Given the description of an element on the screen output the (x, y) to click on. 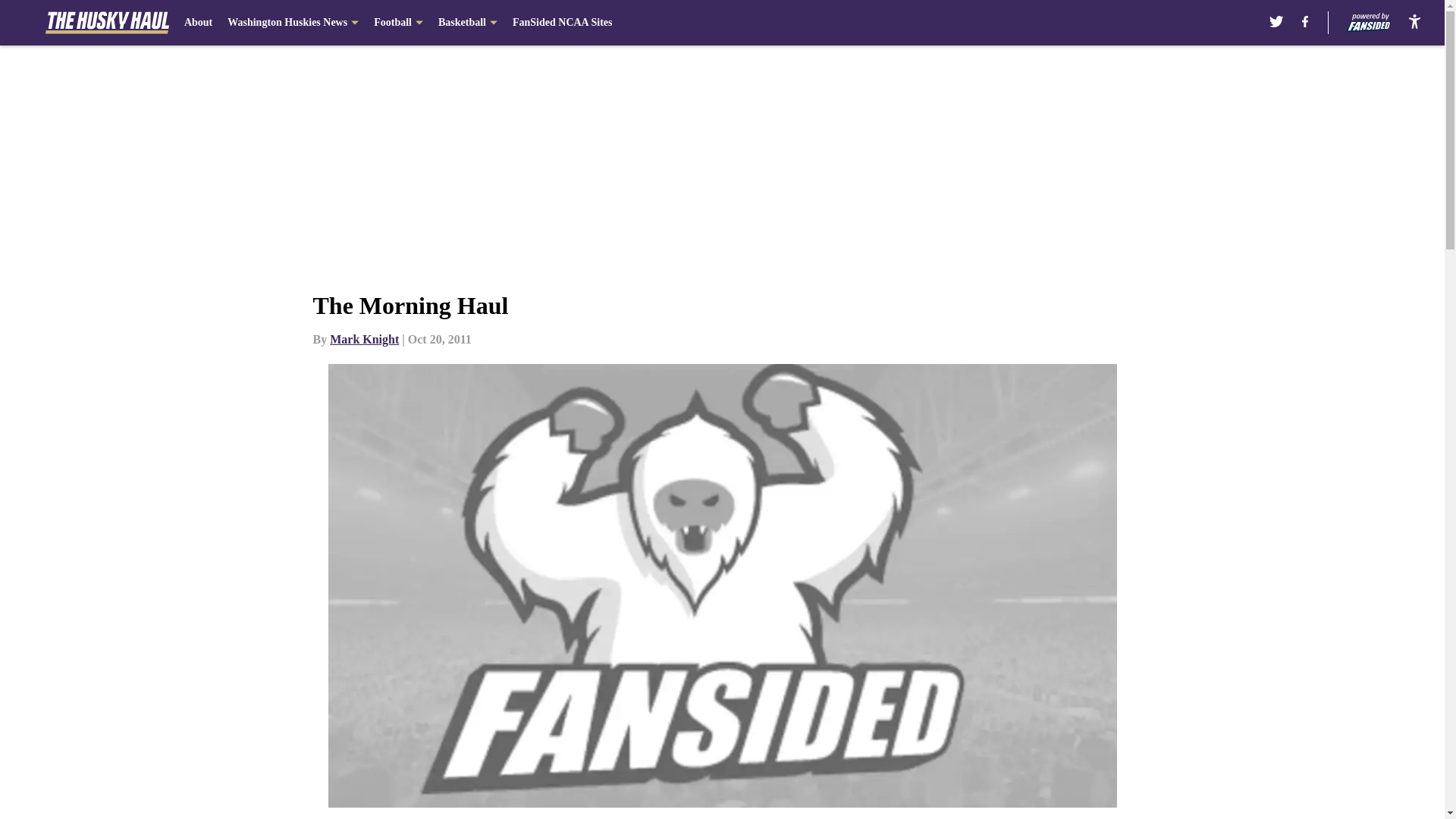
Mark Knight (364, 338)
About (198, 22)
FanSided NCAA Sites (561, 22)
